Given the description of an element on the screen output the (x, y) to click on. 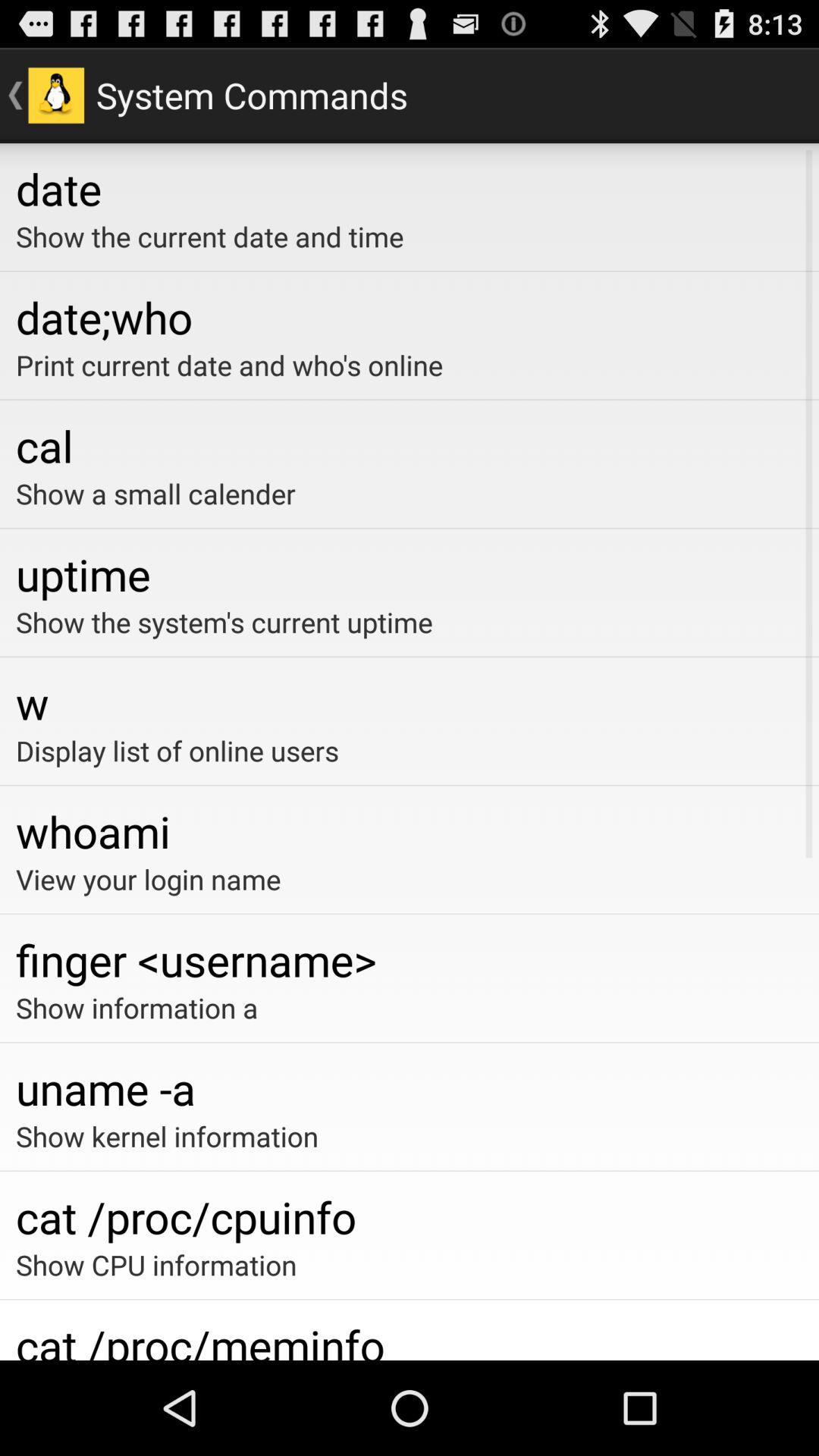
turn on display list of icon (409, 750)
